Given the description of an element on the screen output the (x, y) to click on. 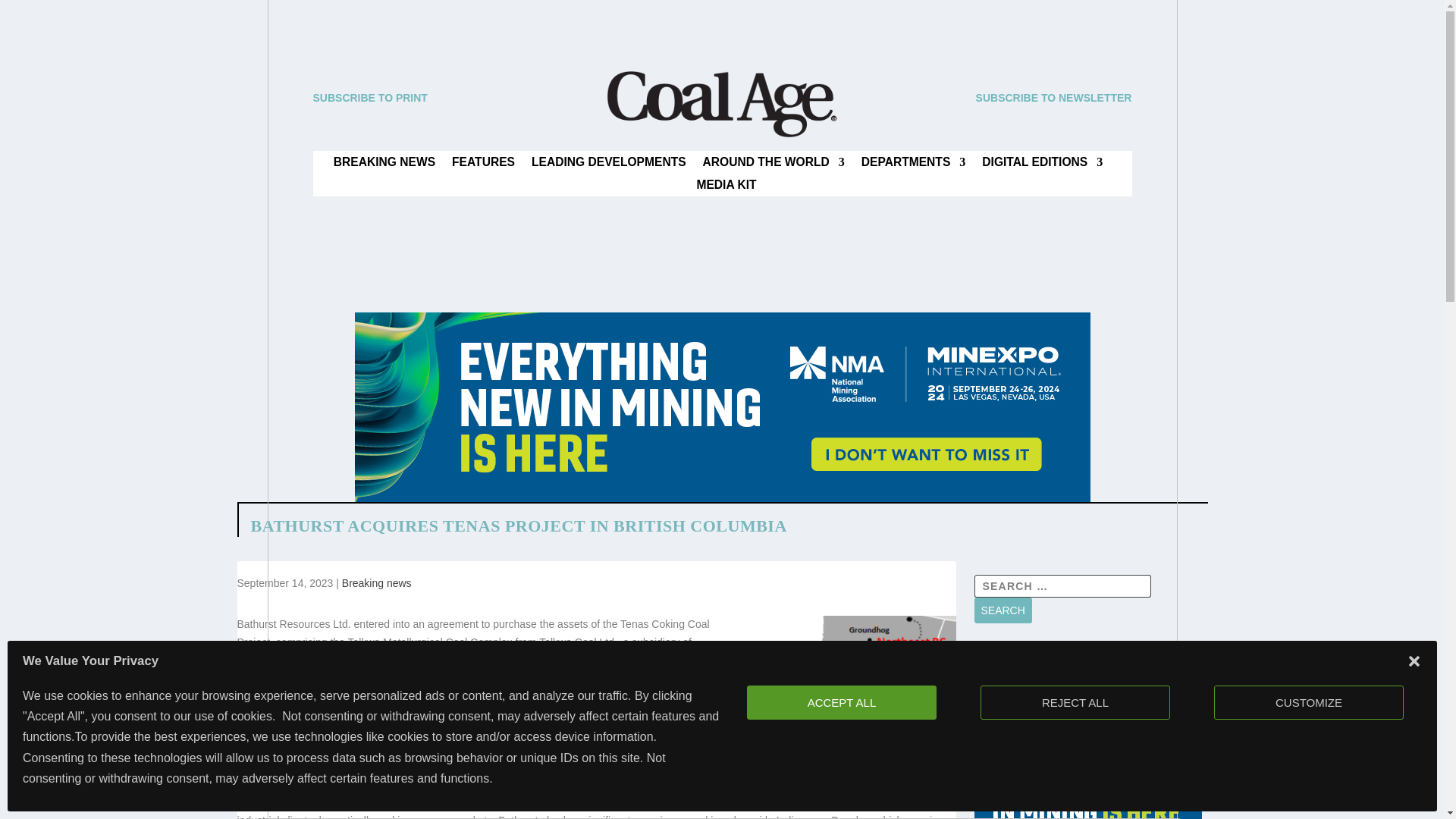
SUBSCRIBE TO NEWSLETTER (1053, 97)
FEATURES (483, 165)
SUBSCRIBE TO PRINT (369, 97)
ACCEPT ALL (841, 702)
CUSTOMIZE (1308, 702)
Search (1002, 610)
BREAKING NEWS (384, 165)
LEADING DEVELOPMENTS (608, 165)
REJECT ALL (1074, 702)
Search (1002, 610)
AROUND THE WORLD (773, 165)
DEPARTMENTS (913, 165)
Coal Age logo (721, 104)
